Given the description of an element on the screen output the (x, y) to click on. 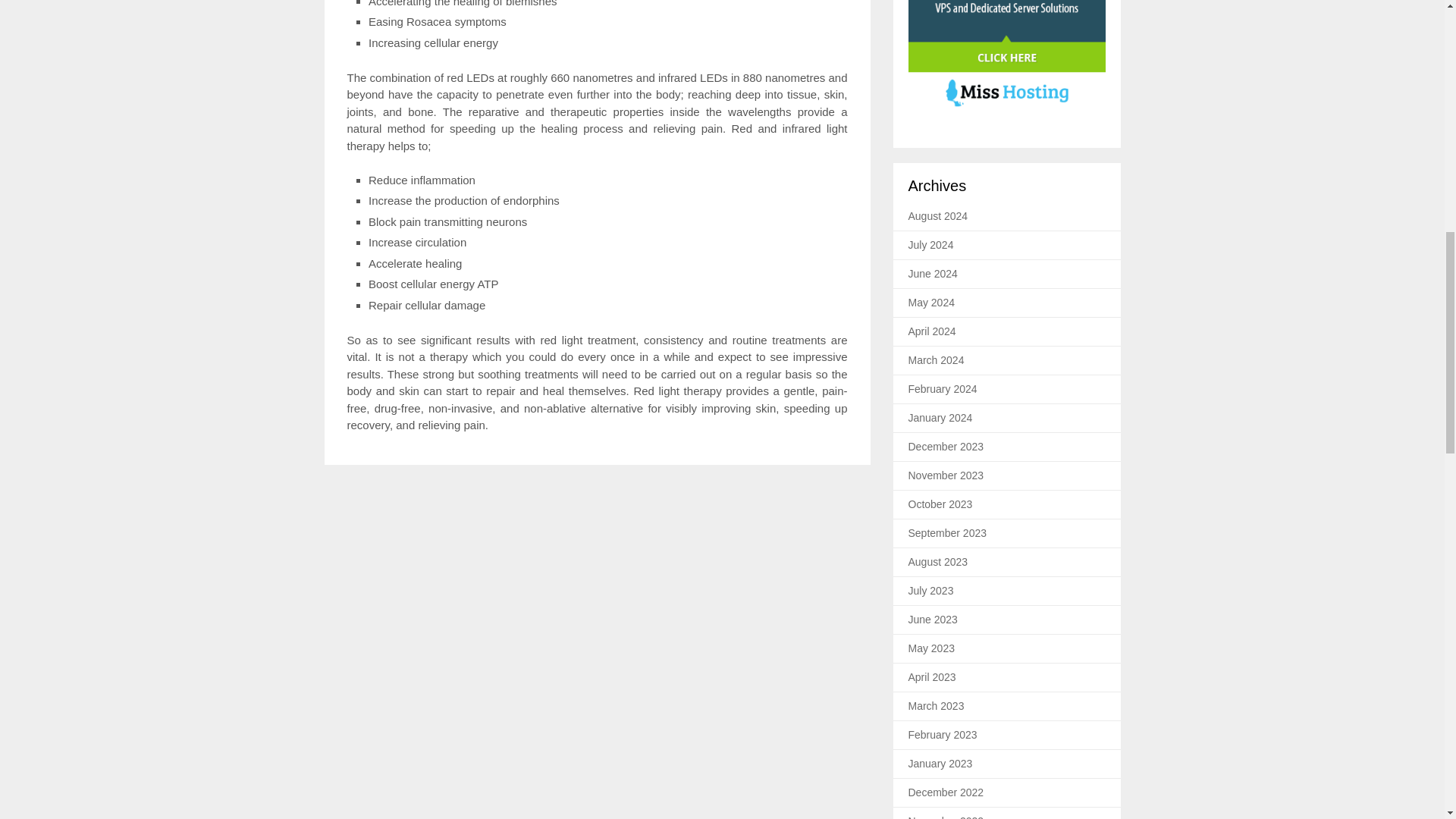
June 2023 (933, 619)
July 2024 (930, 244)
August 2024 (938, 215)
December 2023 (946, 446)
July 2023 (930, 590)
March 2024 (935, 359)
October 2023 (940, 503)
April 2024 (932, 331)
November 2022 (946, 816)
May 2023 (931, 648)
